Given the description of an element on the screen output the (x, y) to click on. 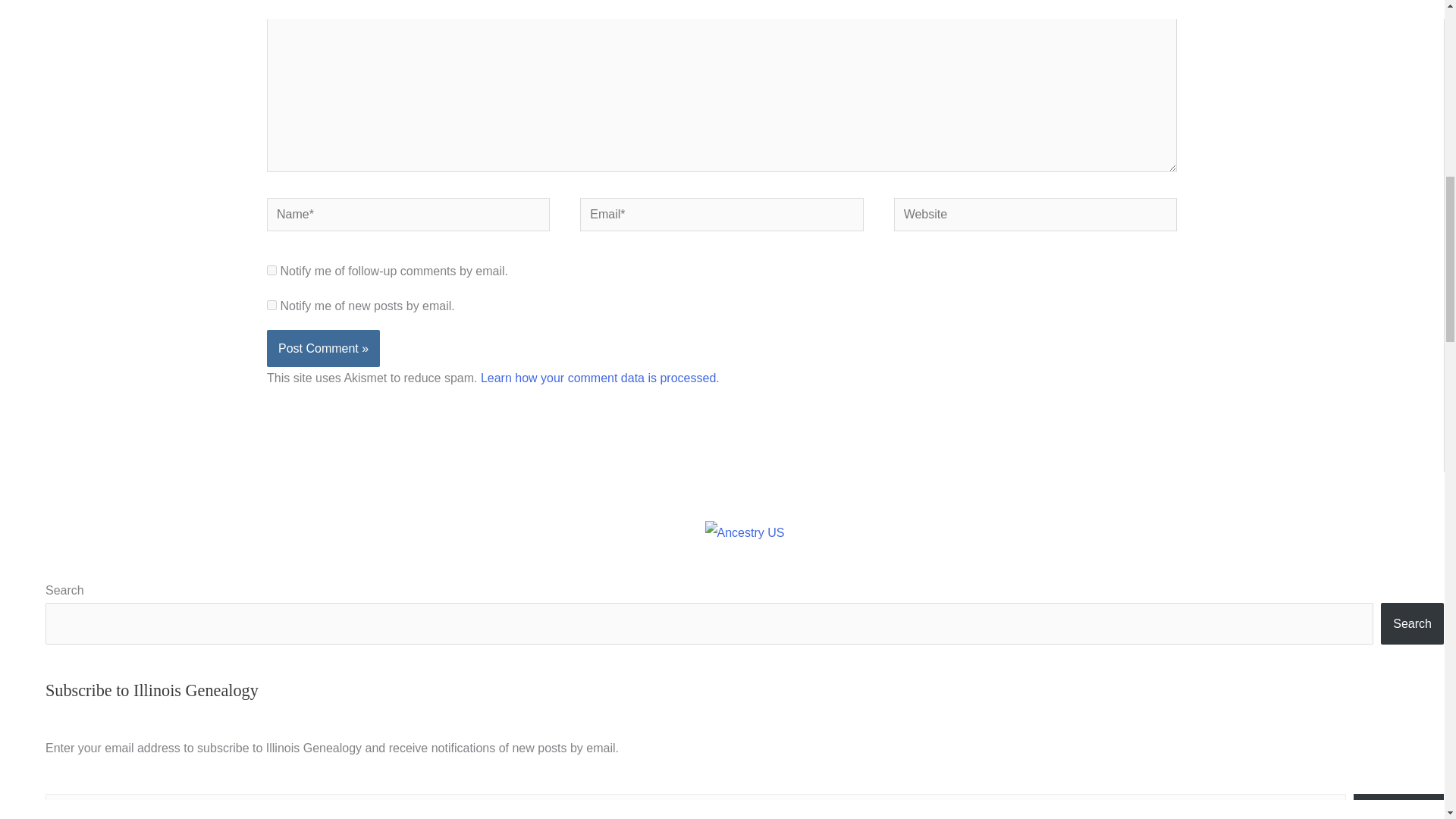
Learn how your comment data is processed (598, 377)
Search (1412, 622)
Subscribe (1399, 806)
Please fill in this field. (695, 806)
subscribe (271, 305)
subscribe (271, 270)
